Given the description of an element on the screen output the (x, y) to click on. 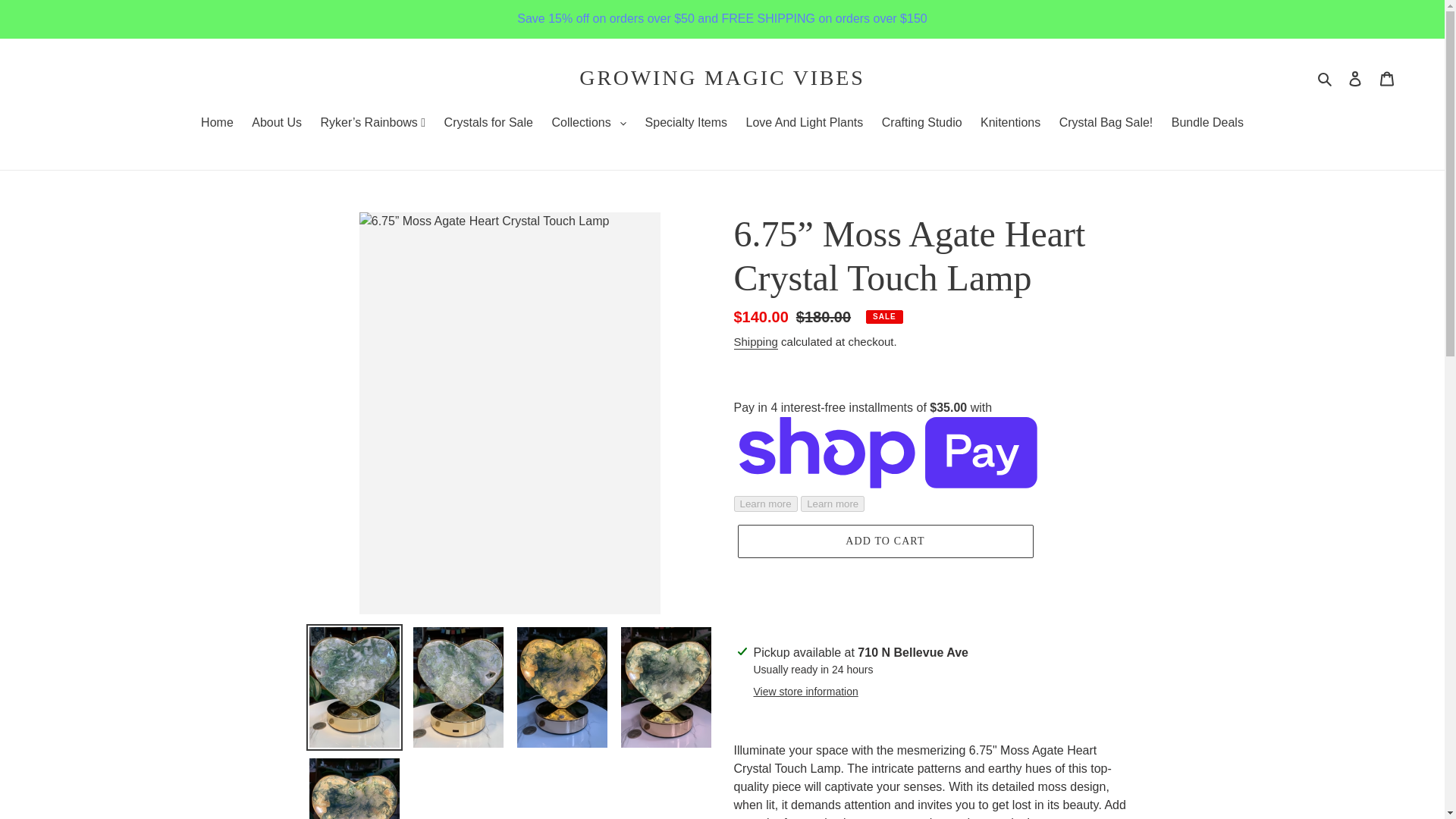
Search (1326, 77)
About Us (276, 123)
GROWING MAGIC VIBES (721, 77)
Home (217, 123)
Cart (1387, 78)
Crystals for Sale (488, 123)
Collections (588, 123)
Log in (1355, 78)
